Given the description of an element on the screen output the (x, y) to click on. 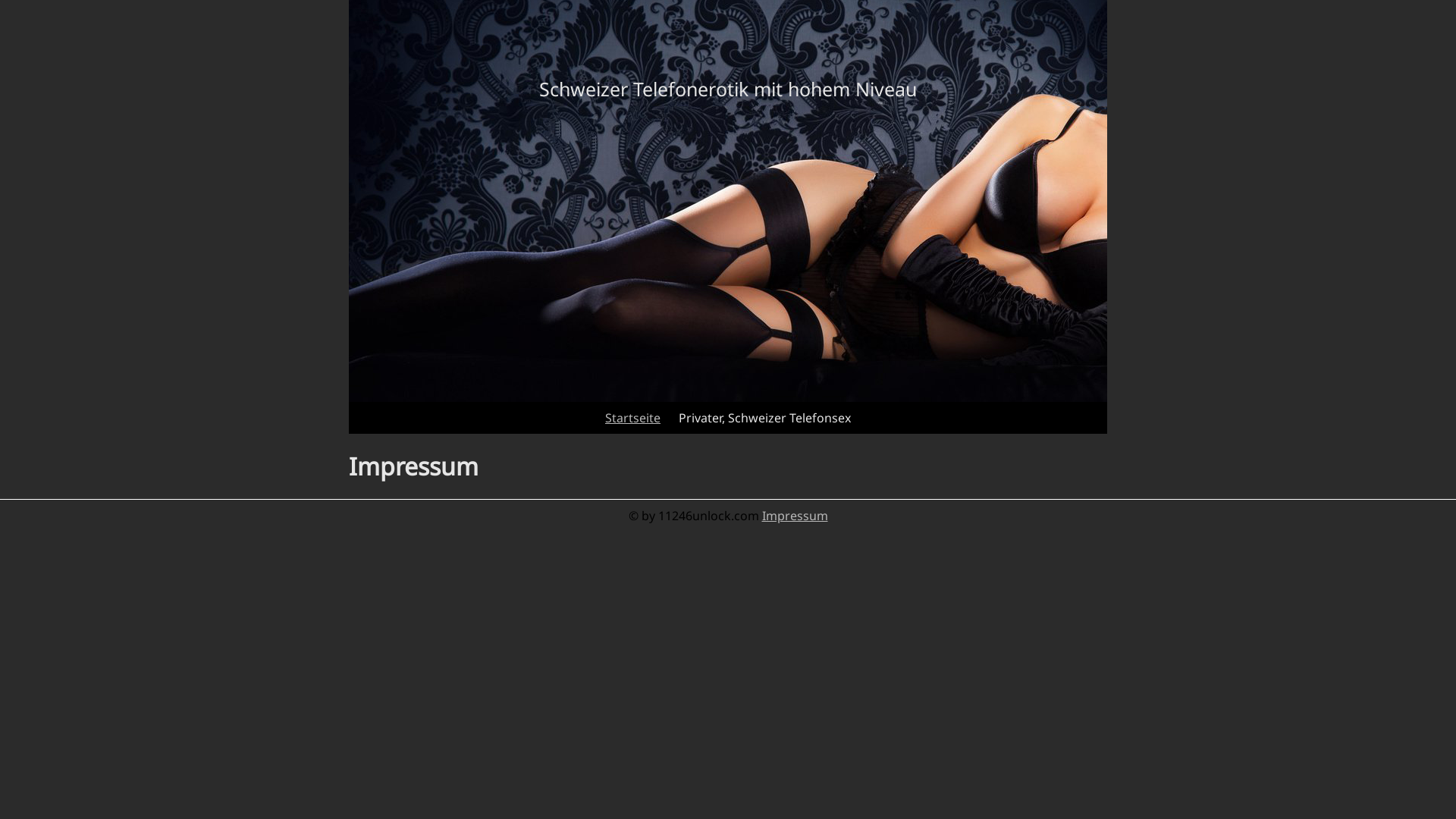
Impressum Element type: text (794, 515)
Startseite Element type: text (632, 417)
